Given the description of an element on the screen output the (x, y) to click on. 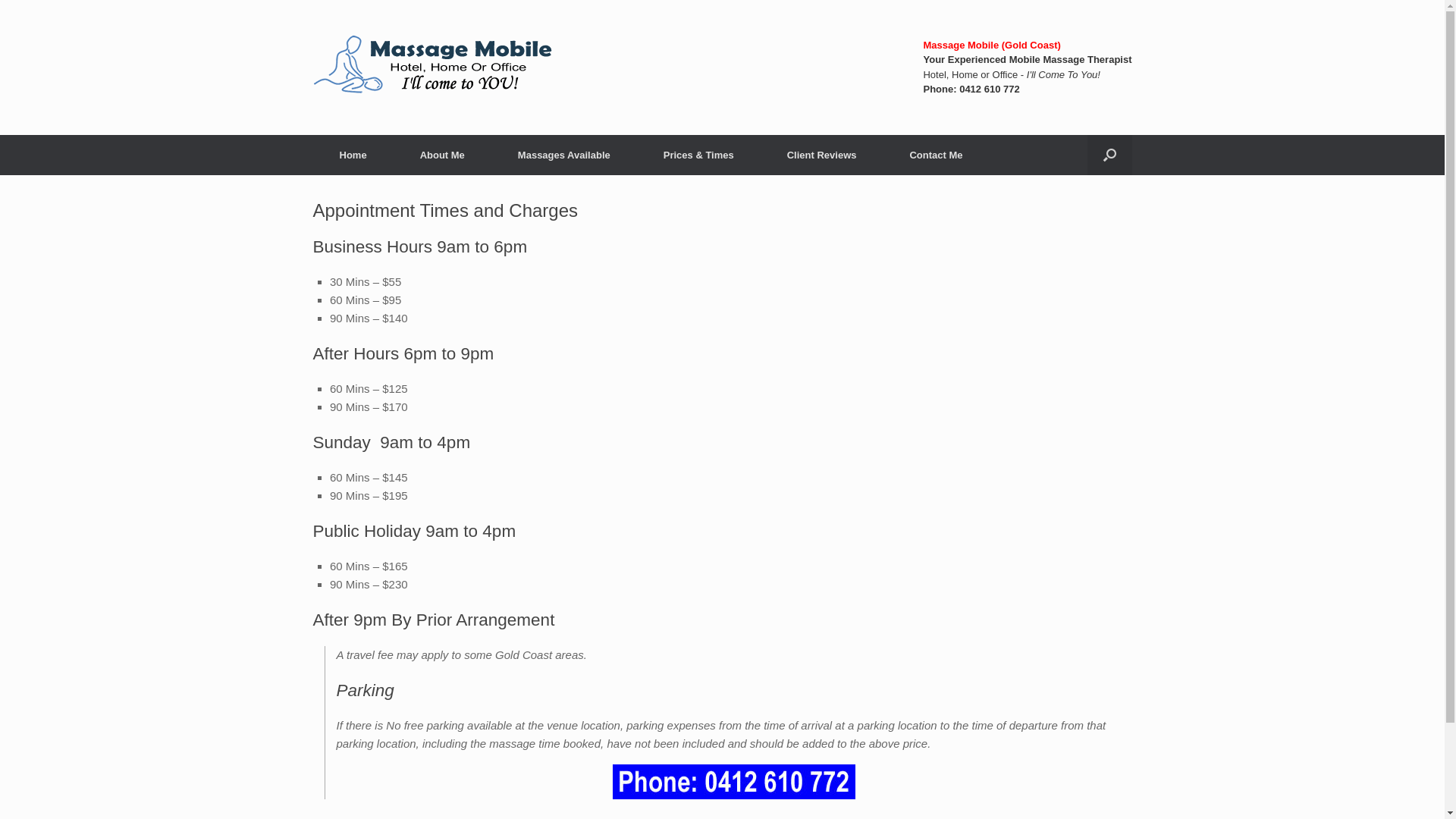
Client Reviews Element type: text (821, 154)
About Me Element type: text (442, 154)
Massages Available Element type: text (564, 154)
Prices & Times Element type: text (698, 154)
Phone: 0412 610 772 Element type: text (970, 88)
Home Element type: text (352, 154)
Contact Me Element type: text (935, 154)
